Given the description of an element on the screen output the (x, y) to click on. 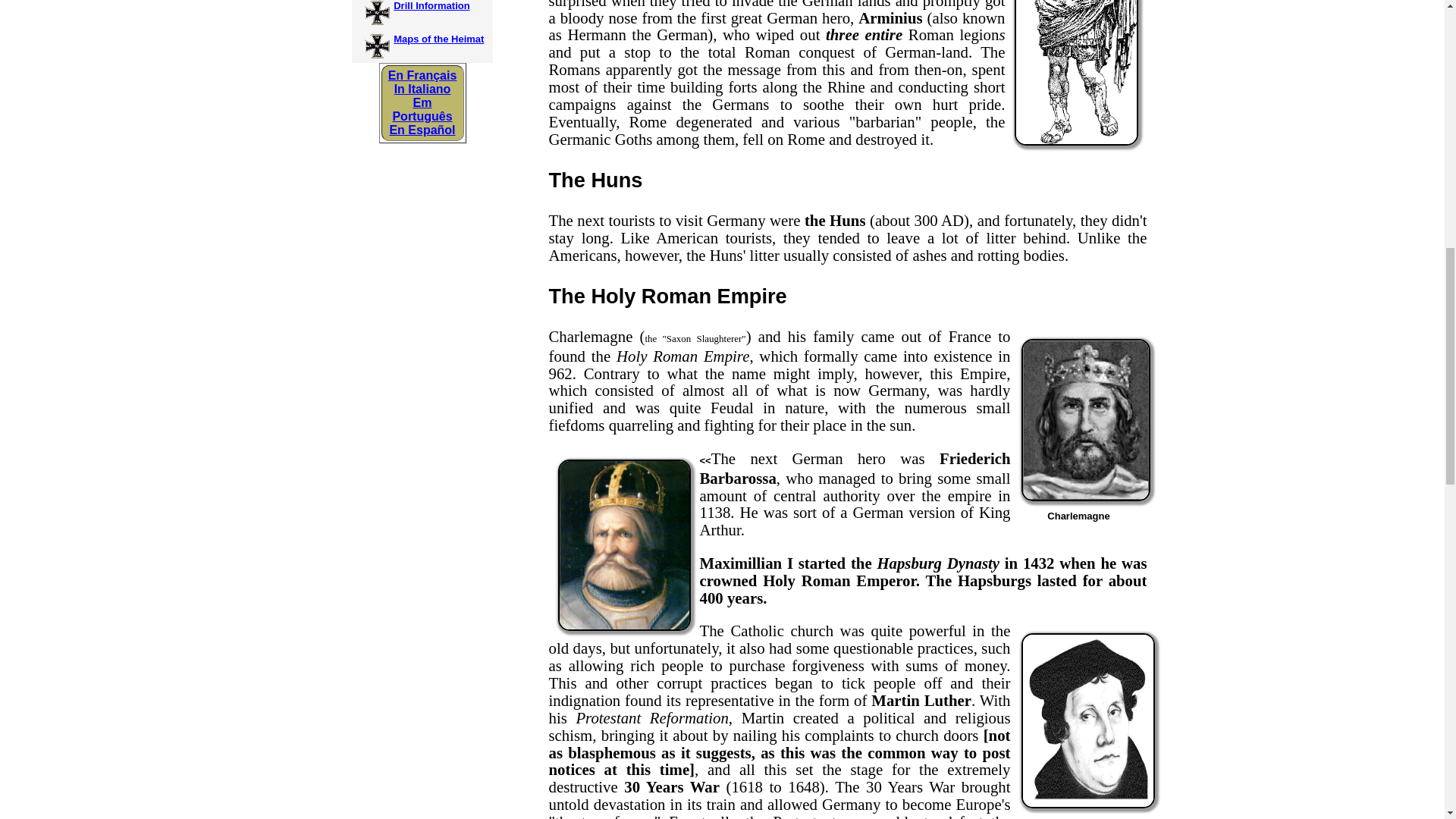
Maps of the Heimat (438, 39)
Drill Information (430, 5)
